Given the description of an element on the screen output the (x, y) to click on. 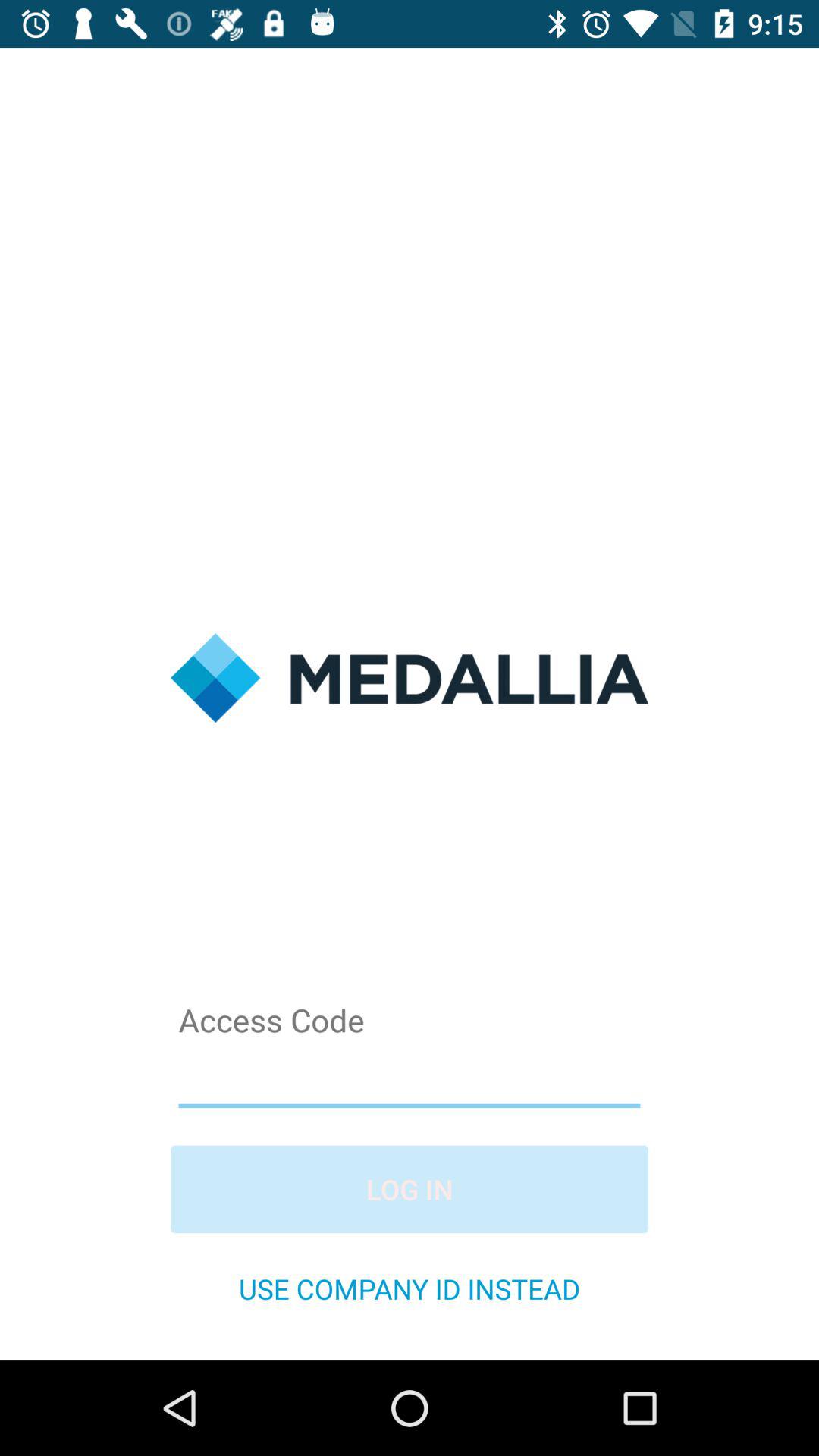
ender the box (409, 1076)
